Given the description of an element on the screen output the (x, y) to click on. 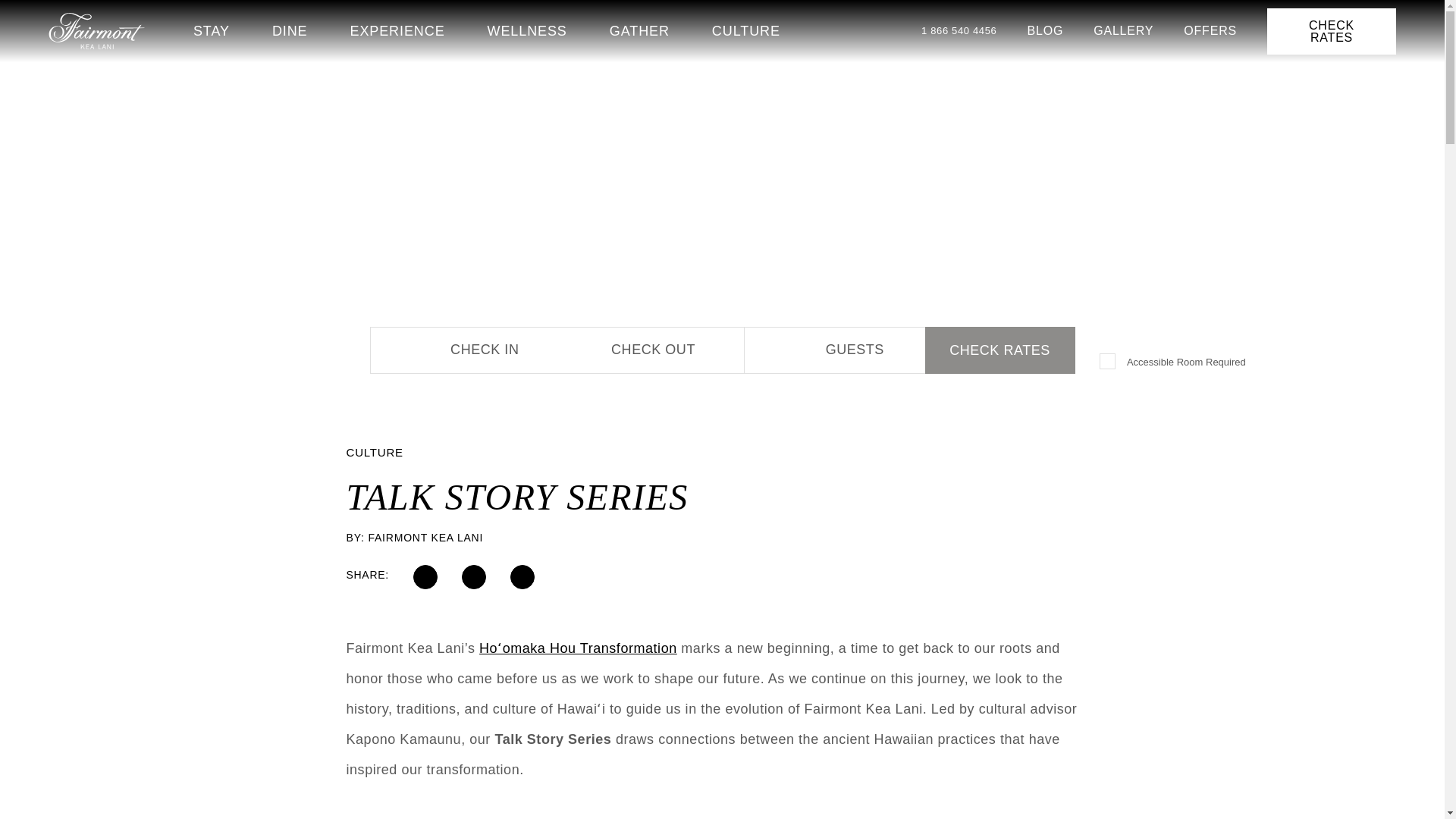
STAY (211, 30)
DINE (289, 30)
EXPERIENCE (397, 30)
1 (1108, 361)
